Given the description of an element on the screen output the (x, y) to click on. 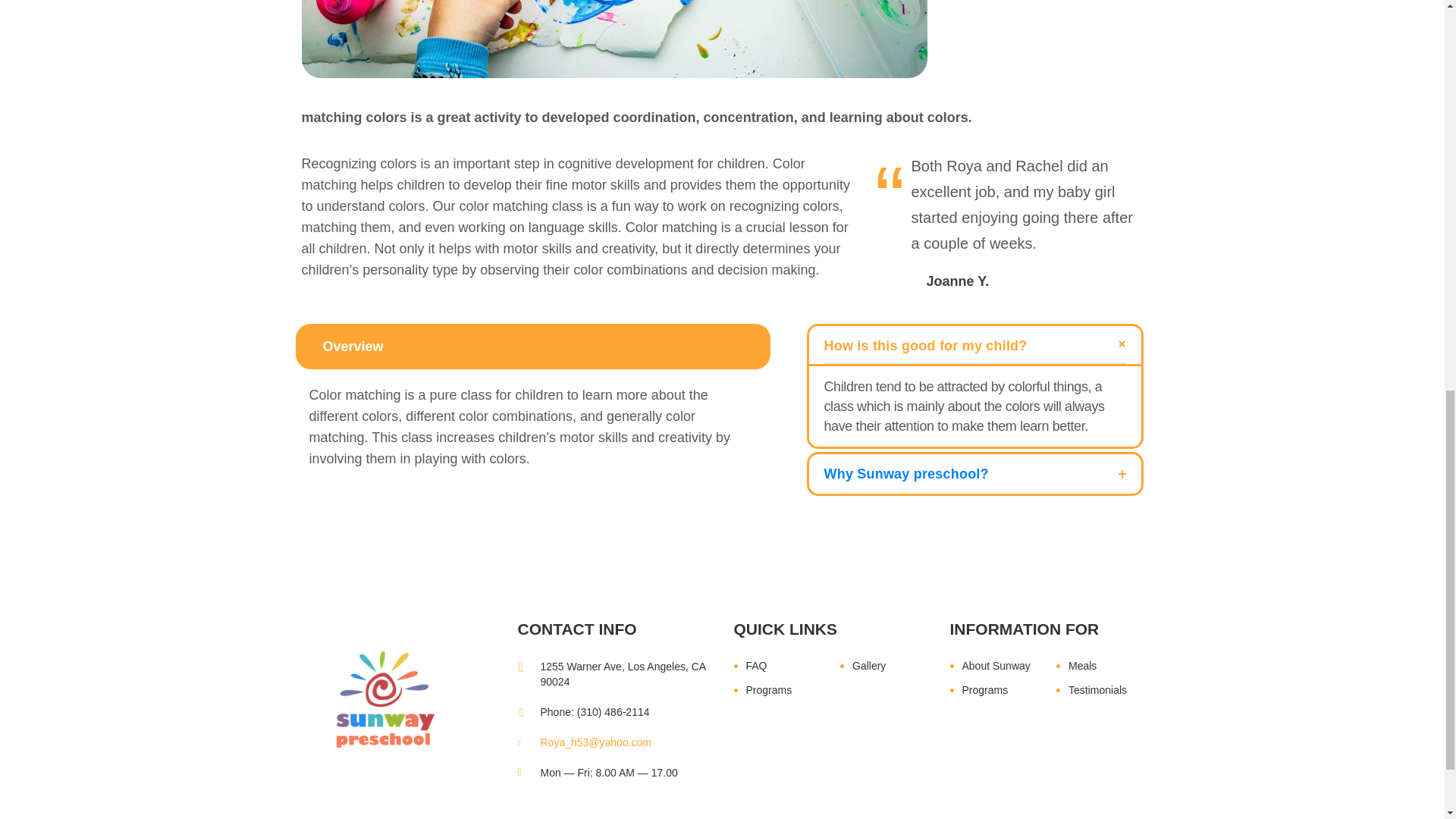
FAQ (782, 665)
Why Sunway preschool? (974, 473)
Gallery (883, 665)
How is this good for my child? (974, 344)
Overview (352, 346)
Programs (782, 690)
